Given the description of an element on the screen output the (x, y) to click on. 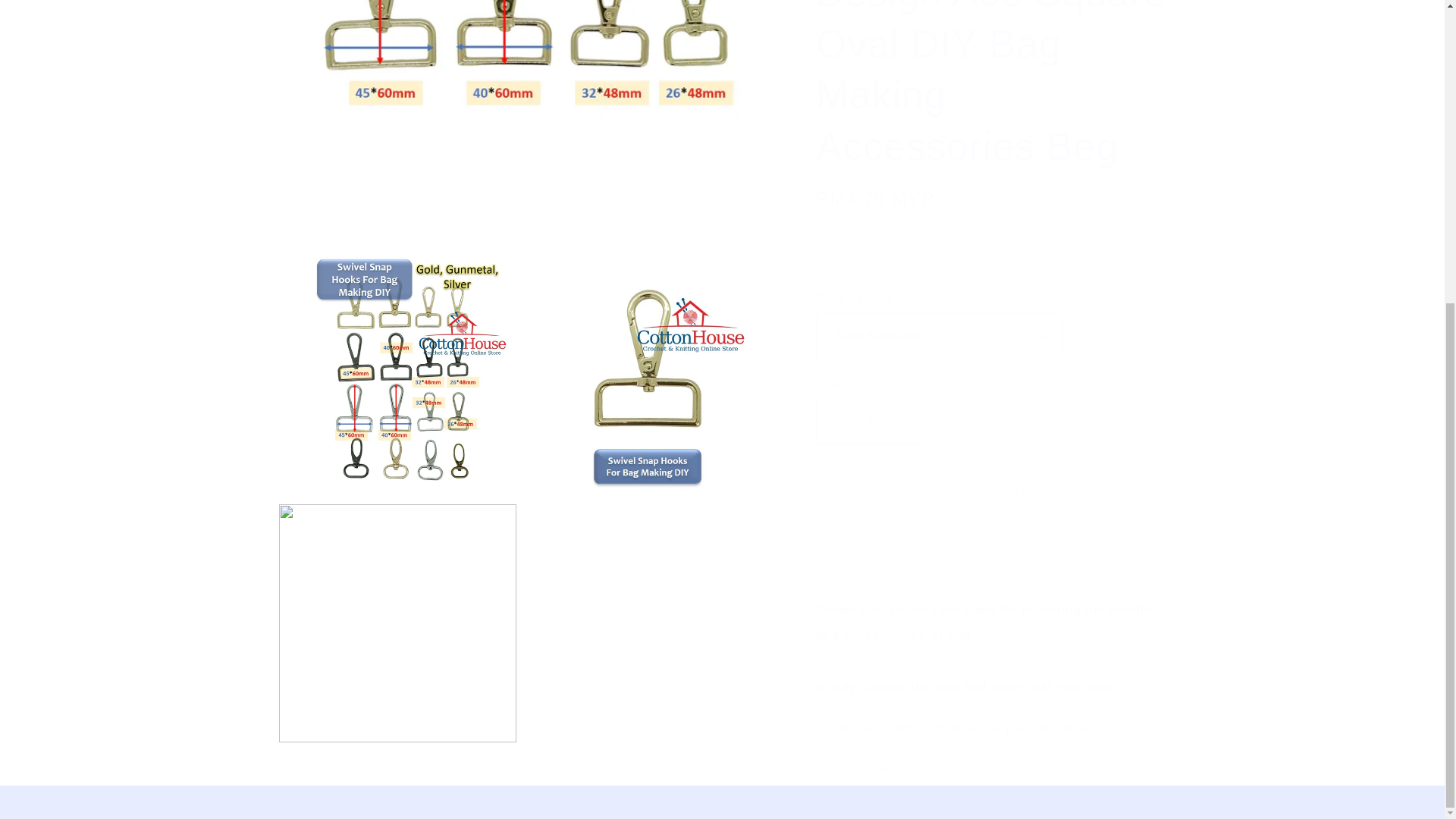
Open media 7 in modal (397, 623)
Open media 2 in modal (397, 372)
Open media 6 in modal (647, 372)
Open media 1 in modal (523, 120)
